Given the description of an element on the screen output the (x, y) to click on. 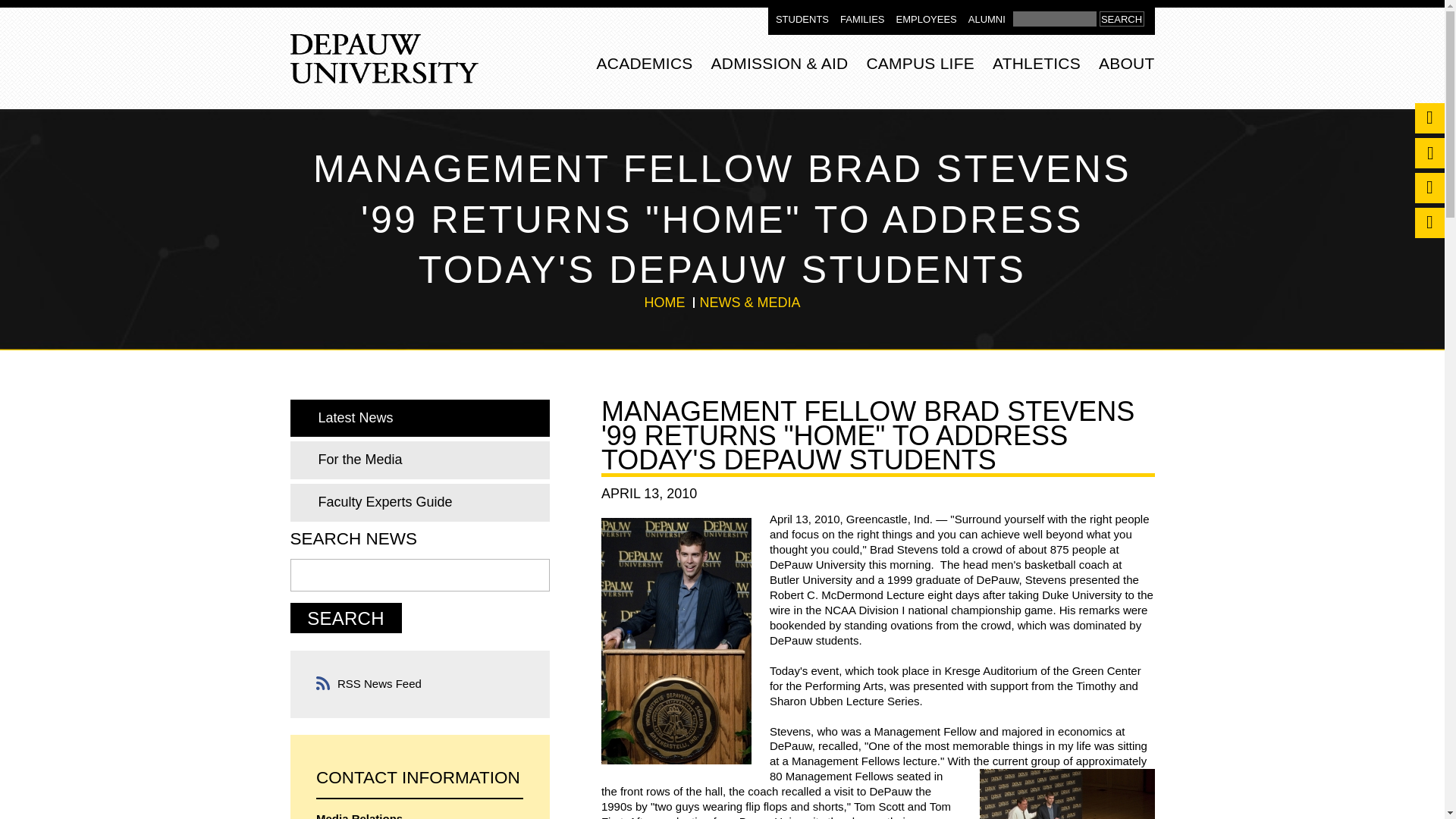
SEARCH (1121, 18)
FAMILIES (862, 19)
EMPLOYEES (926, 19)
DePauw University Homepage (383, 58)
DePauw University (383, 58)
ABOUT (1126, 61)
ATHLETICS (1036, 61)
SEARCH (1121, 18)
Search (345, 617)
Search (1054, 18)
